Given the description of an element on the screen output the (x, y) to click on. 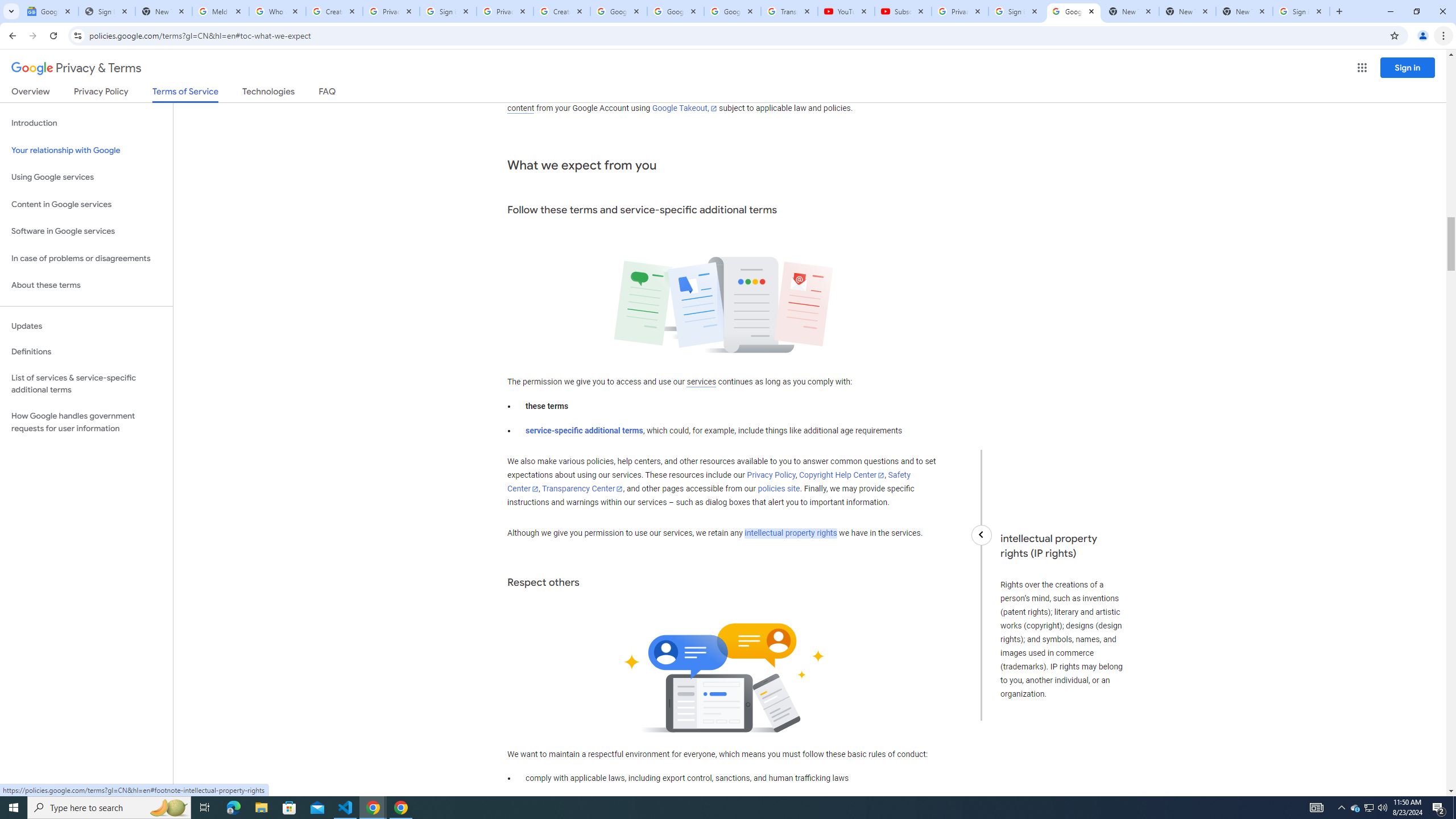
services (700, 381)
Copyright Help Center (841, 475)
In case of problems or disagreements (86, 258)
Sign in - Google Accounts (1015, 11)
Terms of Service (184, 94)
Subscriptions - YouTube (902, 11)
FAQ (327, 93)
